Given the description of an element on the screen output the (x, y) to click on. 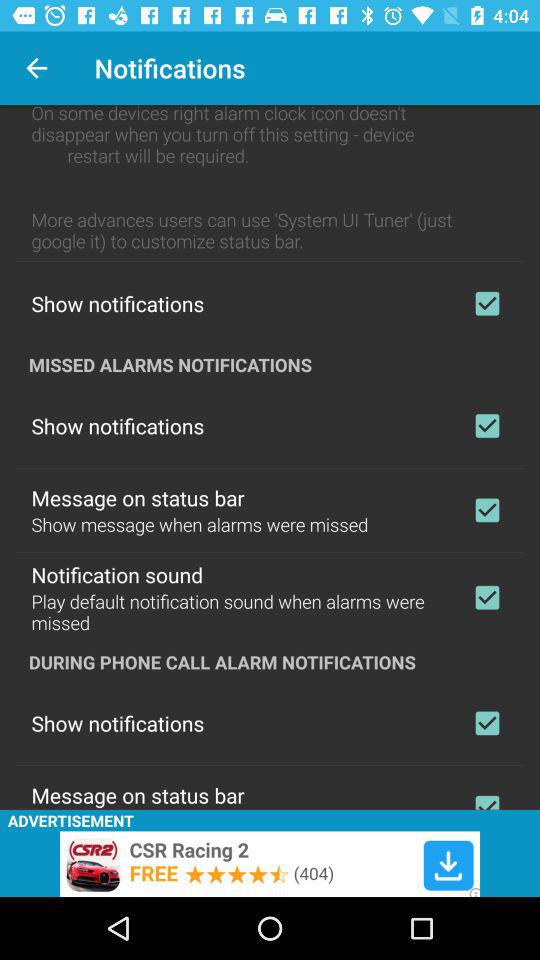
select logo (487, 510)
